Given the description of an element on the screen output the (x, y) to click on. 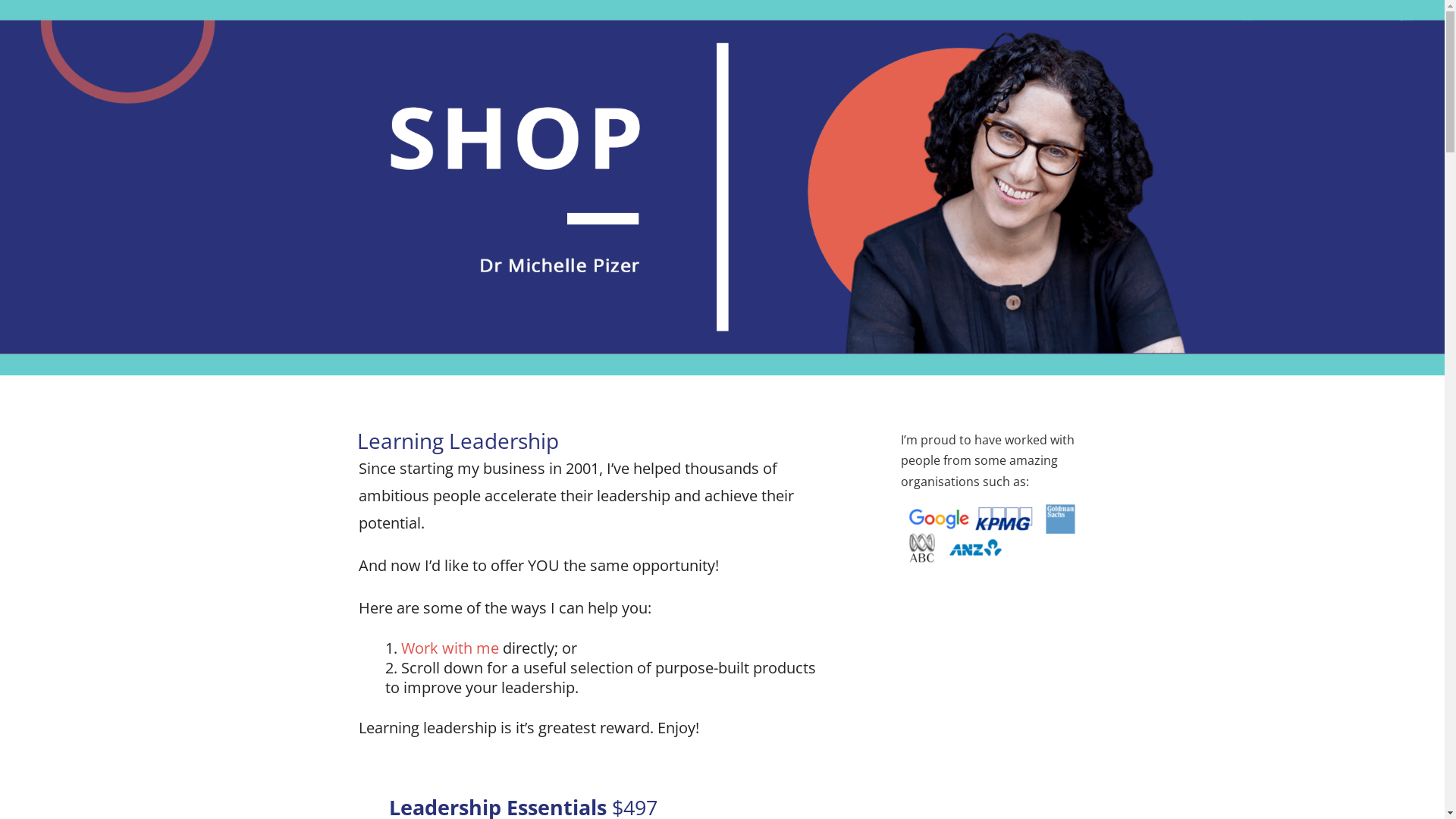
Work with me Element type: text (449, 647)
